Given the description of an element on the screen output the (x, y) to click on. 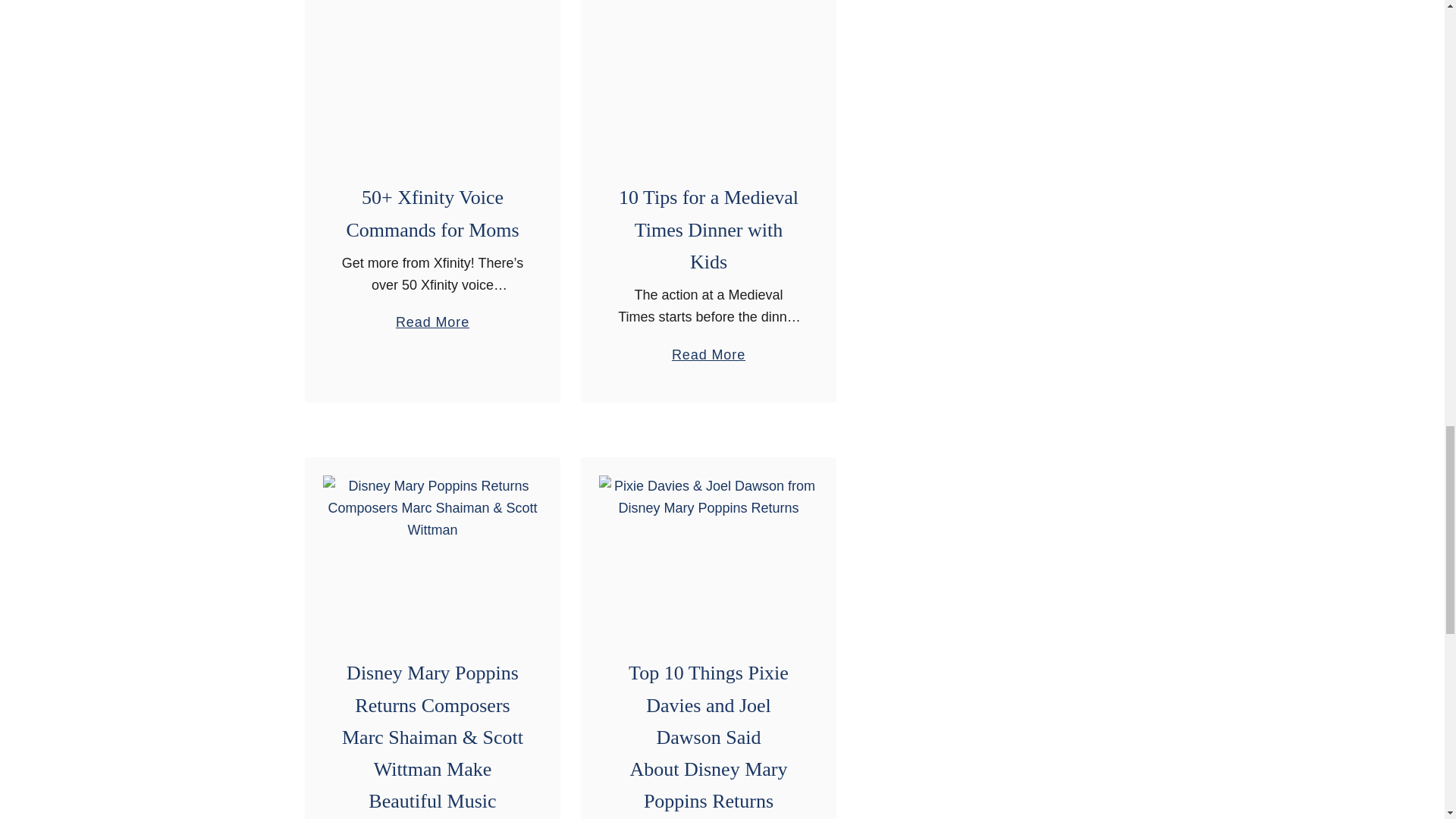
10 Tips for a Medieval Times Dinner with Kids (708, 73)
